Given the description of an element on the screen output the (x, y) to click on. 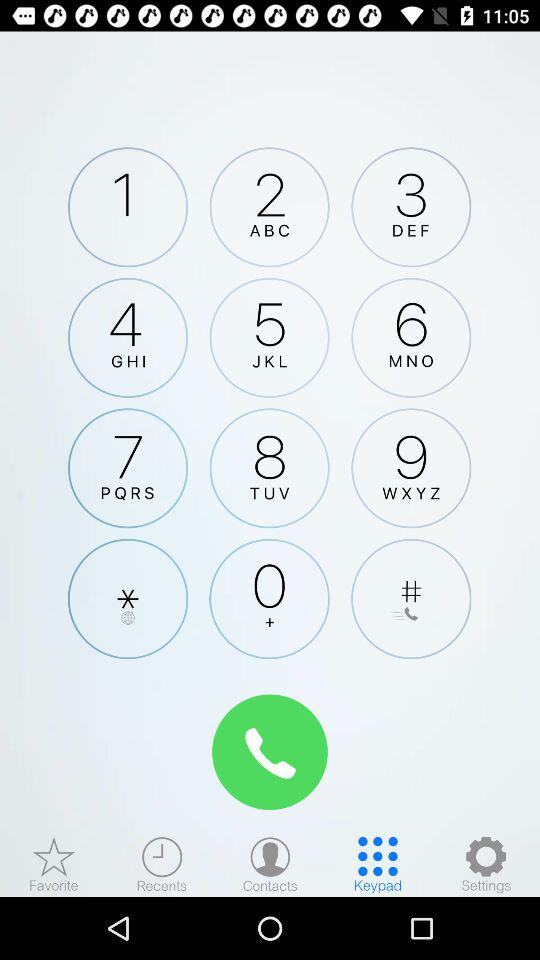
dial 6 (411, 337)
